Given the description of an element on the screen output the (x, y) to click on. 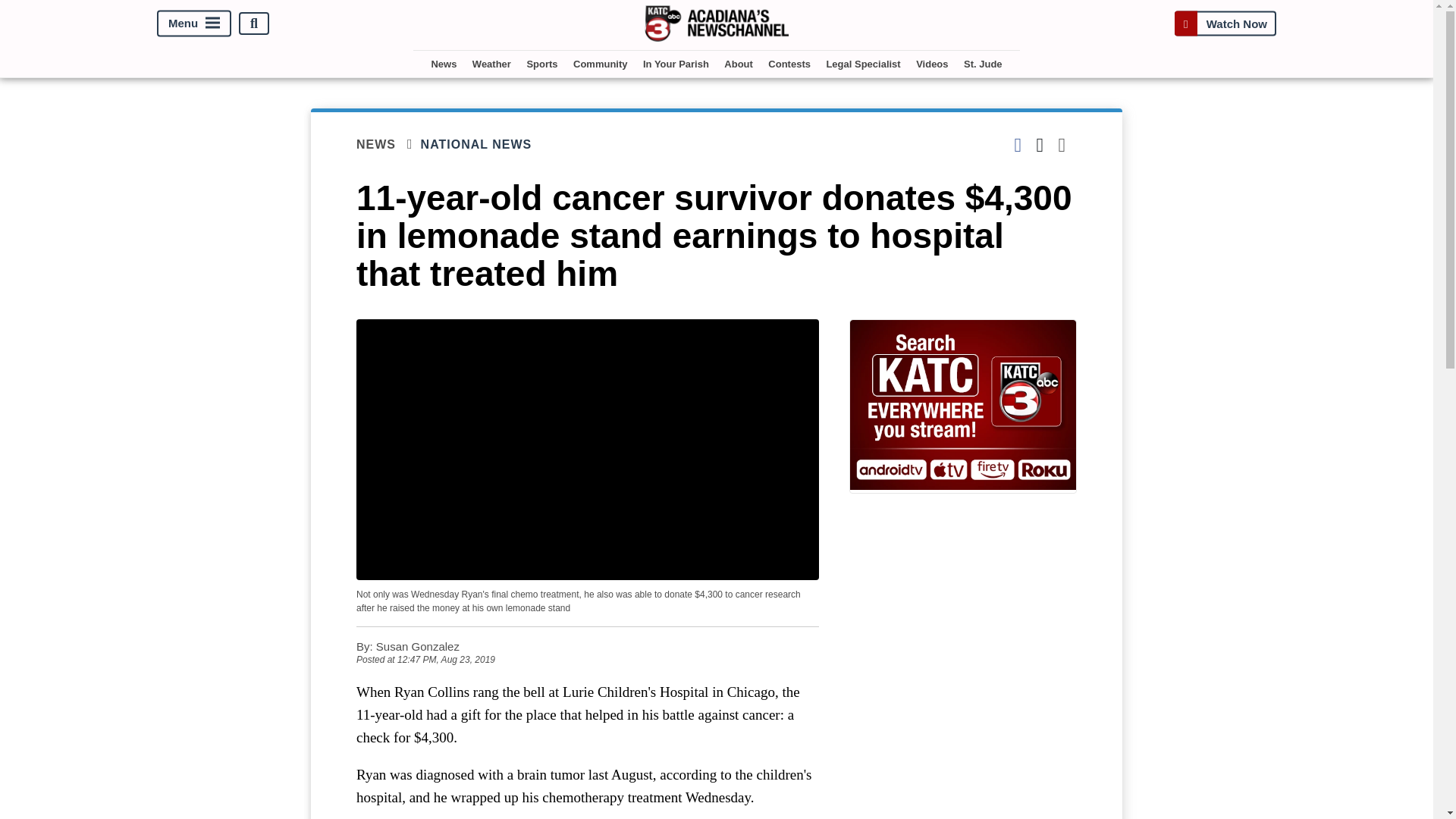
Menu (194, 23)
Watch Now (1224, 23)
